Given the description of an element on the screen output the (x, y) to click on. 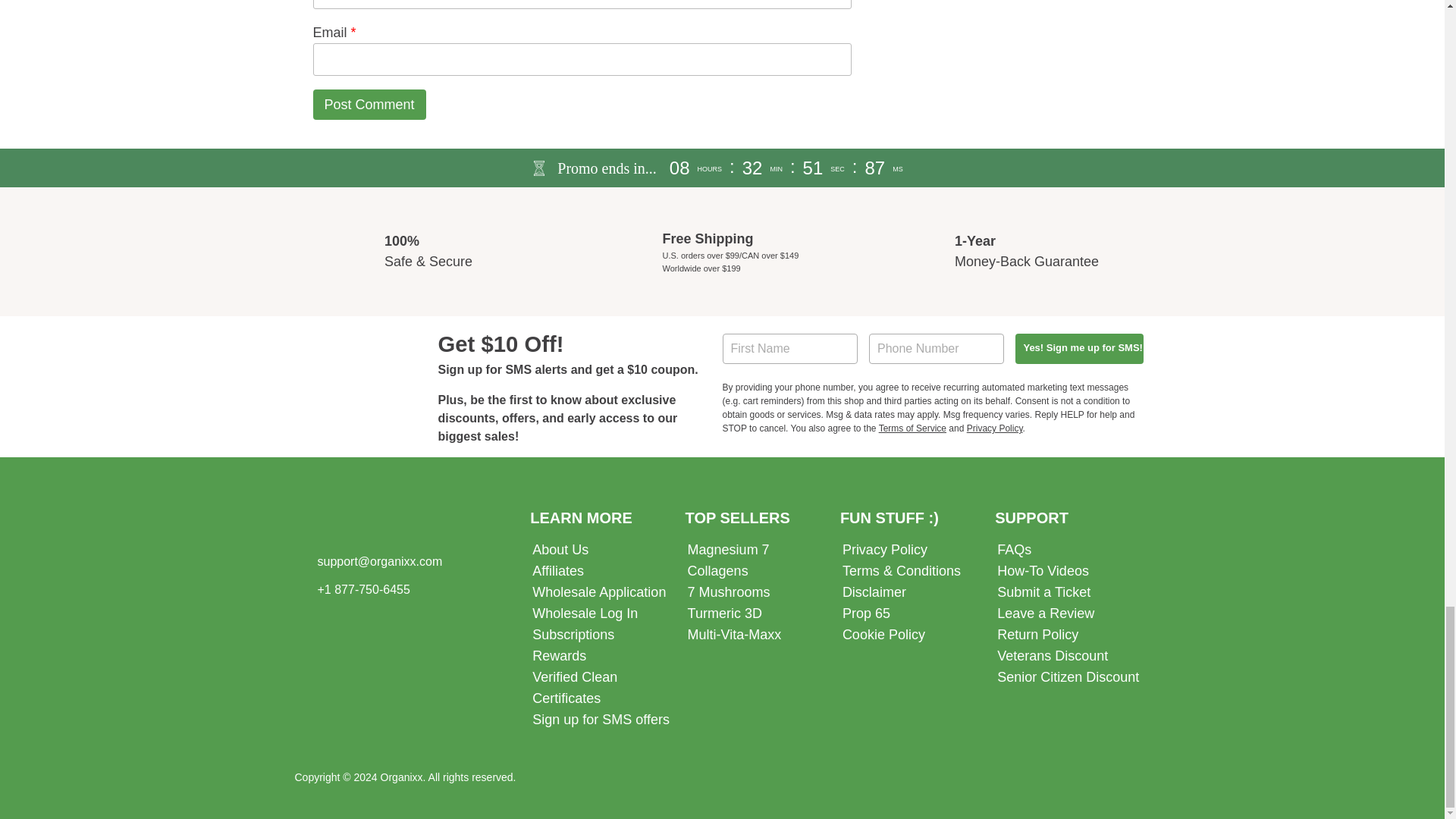
Yes! Sign me up for SMS! (1078, 348)
Post Comment (369, 104)
